Given the description of an element on the screen output the (x, y) to click on. 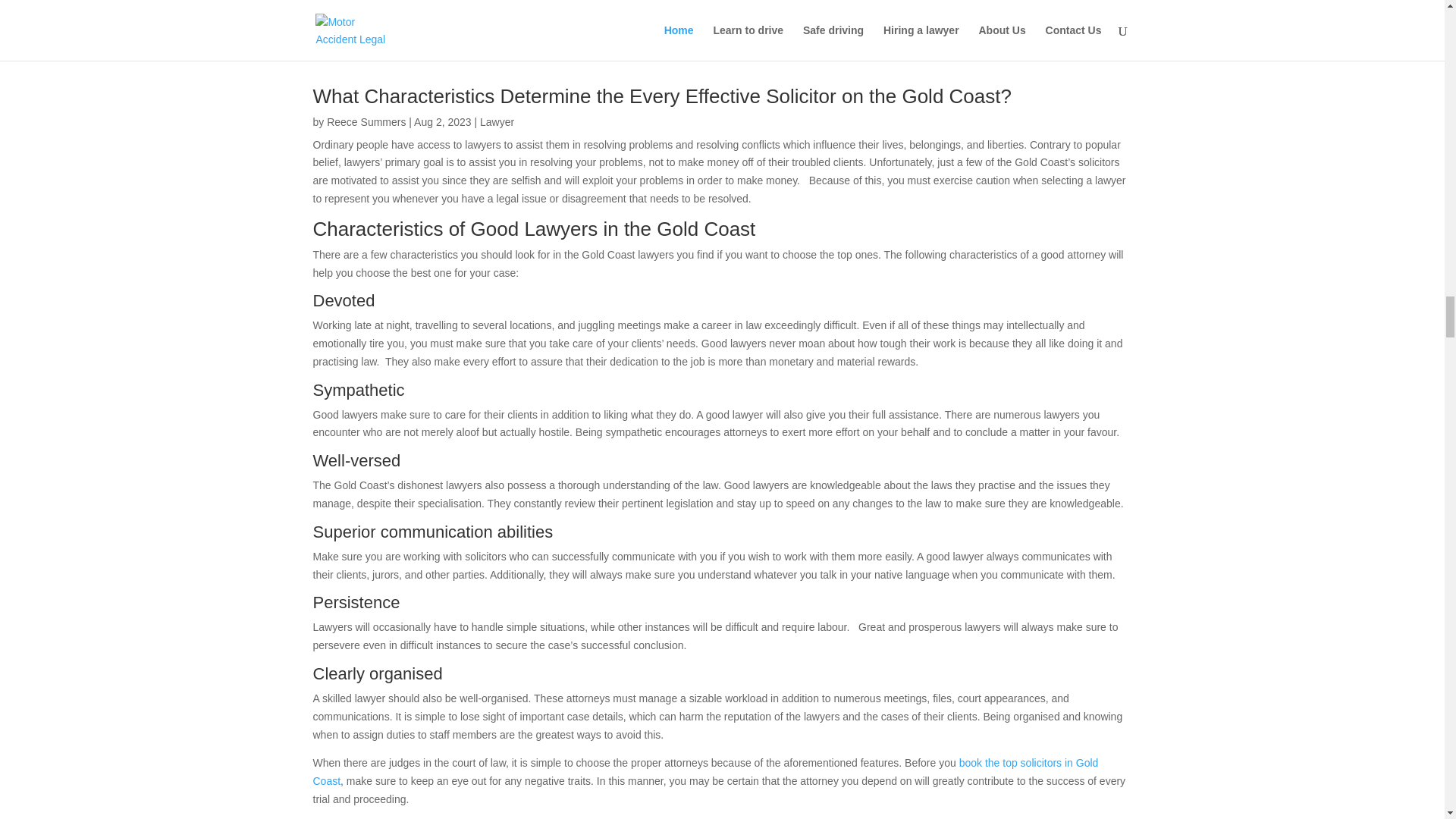
Lawyer (496, 121)
Reece Summers (366, 121)
book the top solicitors in Gold Coast (705, 771)
